Given the description of an element on the screen output the (x, y) to click on. 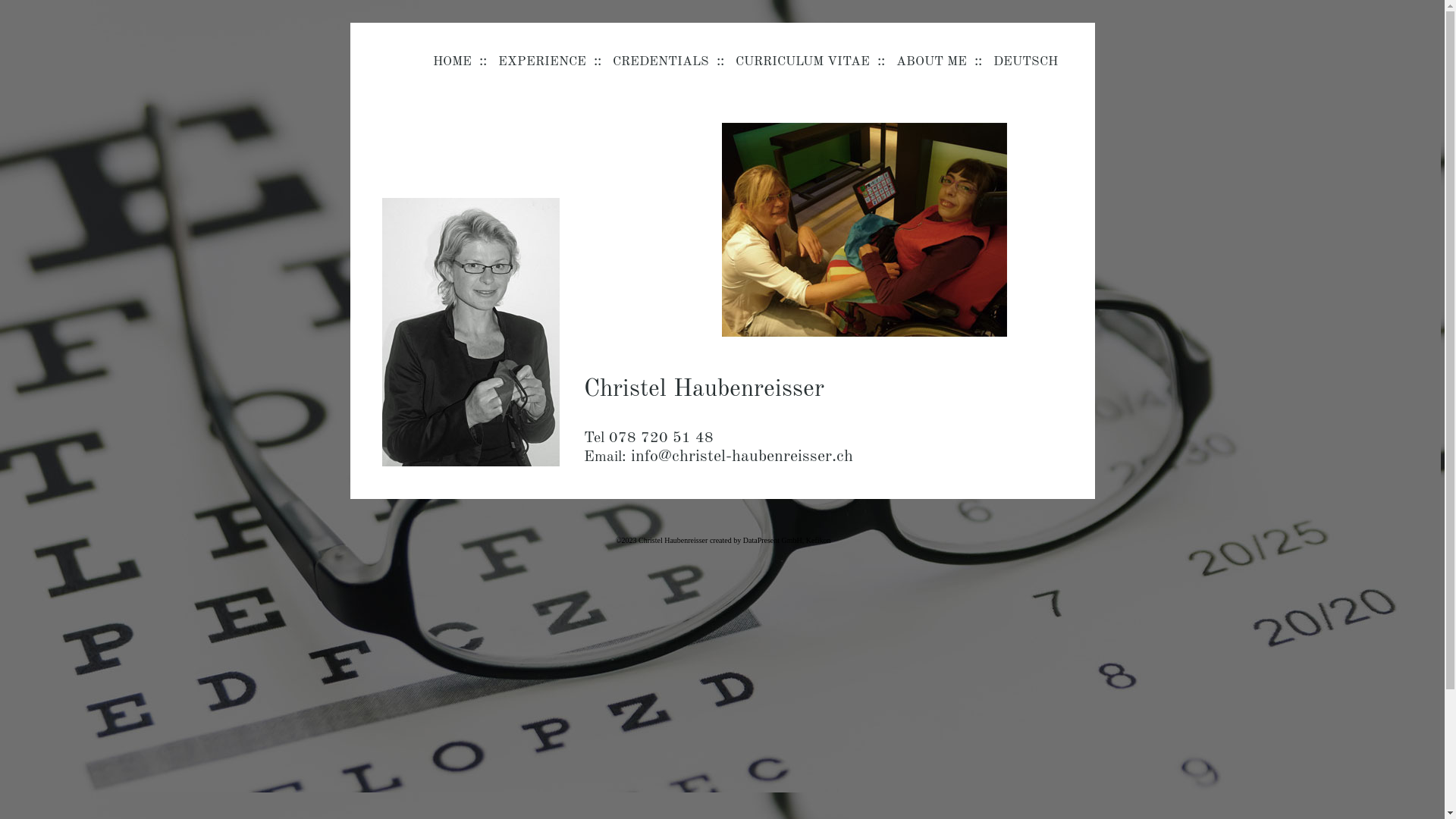
DataPresent GmbH, Kefikon Element type: text (787, 540)
ABOUT ME Element type: text (931, 60)
DEUTSCH Element type: text (1025, 60)
EXPERIENCE Element type: text (541, 60)
CURRICULUM VITAE Element type: text (802, 60)
HOME Element type: text (451, 60)
CREDENTIALS Element type: text (660, 60)
info@christel-haubenreisser.ch Element type: text (741, 456)
